Given the description of an element on the screen output the (x, y) to click on. 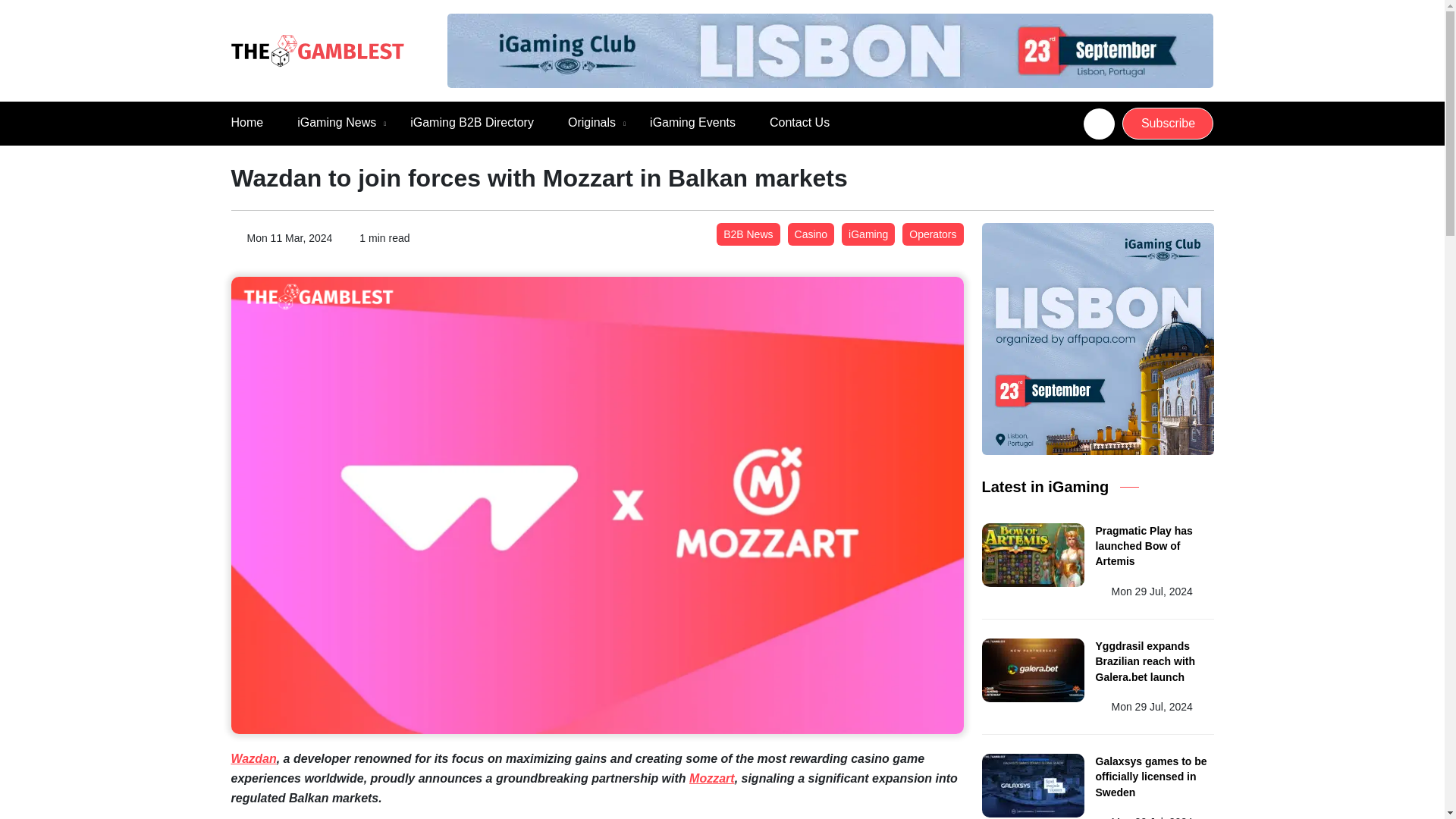
Casino (810, 233)
Casino (810, 233)
1150x110 (829, 50)
iGaming News (336, 123)
Contact Us (799, 123)
iGaming (868, 233)
B2B News (747, 233)
B2B News (747, 233)
iGaming B2B Directory (472, 123)
iGaming Events (692, 123)
iGaming News (336, 123)
Operators (932, 233)
TheGamblest Logo (316, 51)
iGaming (868, 233)
Wazdan (253, 758)
